Given the description of an element on the screen output the (x, y) to click on. 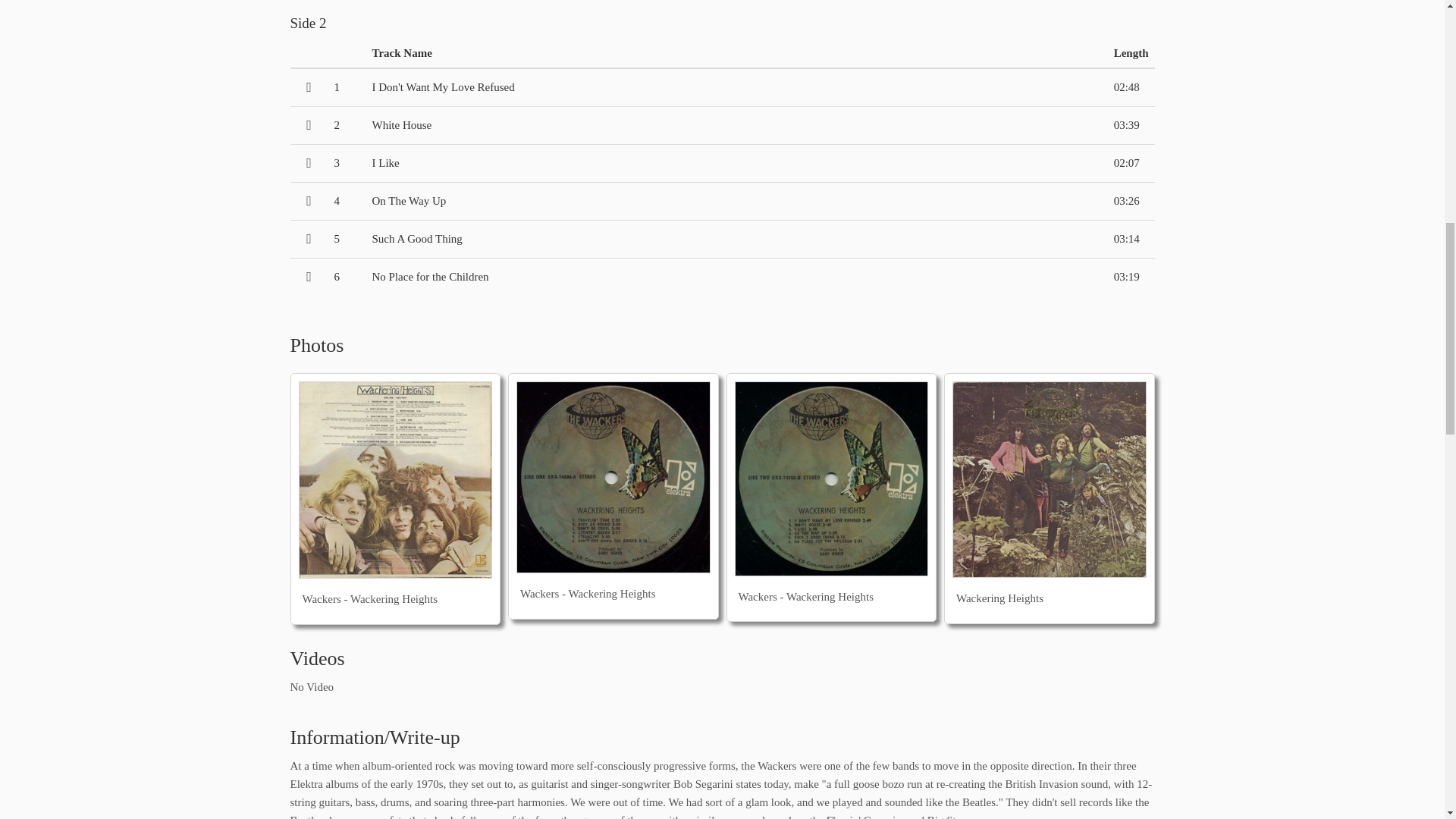
Wackers - Wackering Heights (395, 480)
Wackering Heights (1049, 479)
Wackers - Wackering Heights (830, 478)
Wackers - Wackering Heights (613, 477)
